Given the description of an element on the screen output the (x, y) to click on. 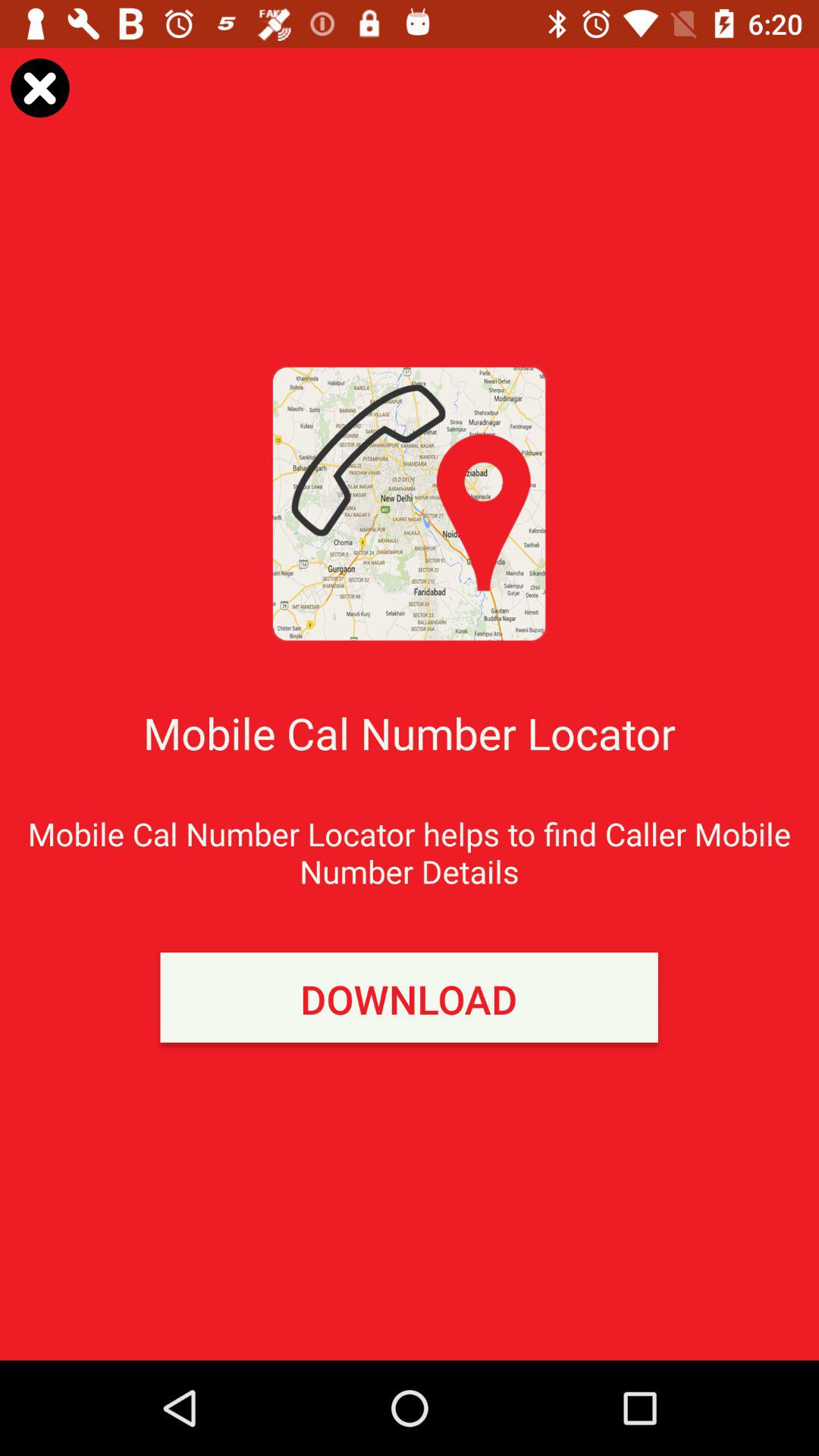
close the page (39, 87)
